Given the description of an element on the screen output the (x, y) to click on. 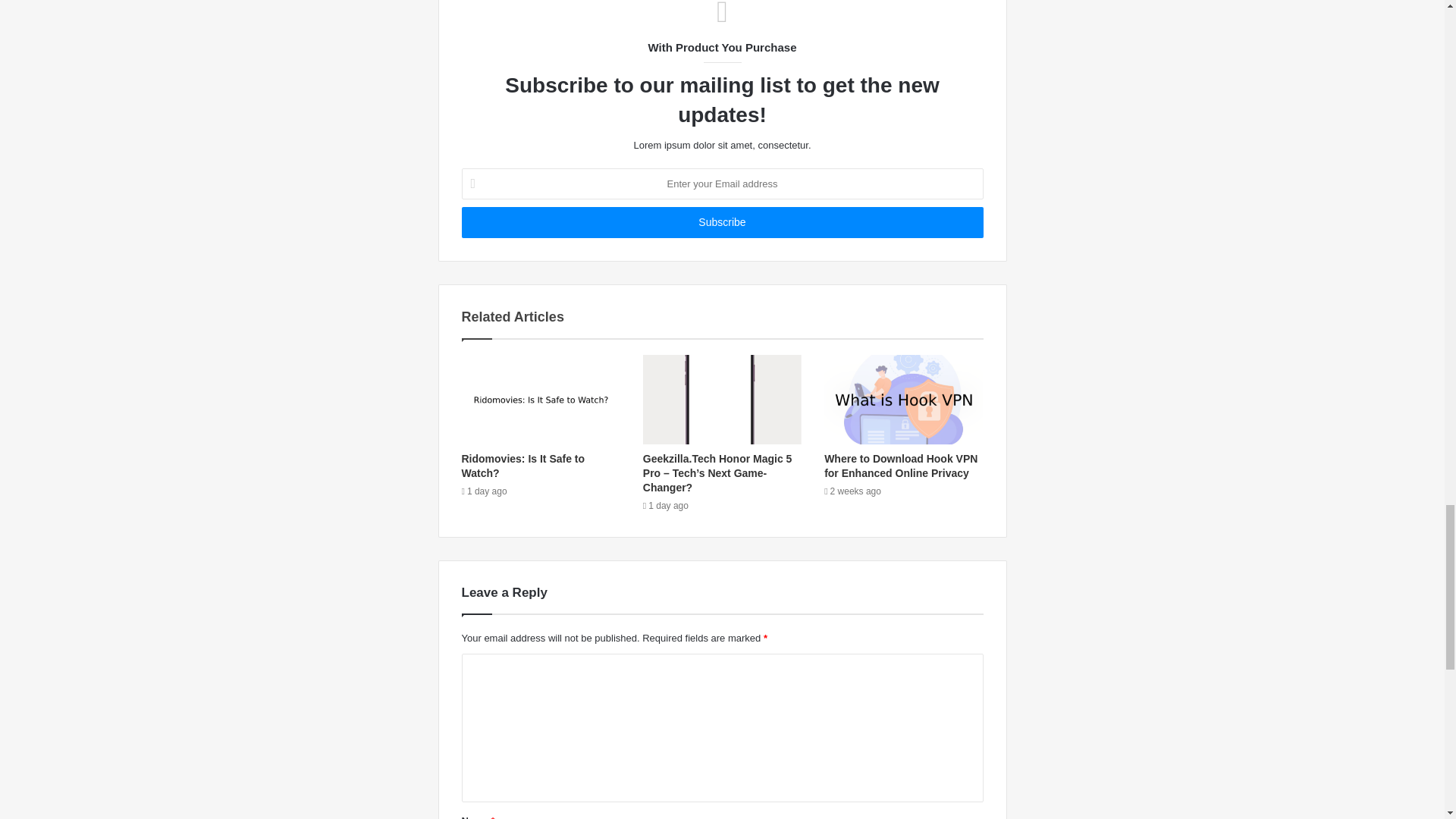
Where to Download Hook VPN for Enhanced Online Privacy (900, 465)
Ridomovies: Is It Safe to Watch? (523, 465)
Subscribe (721, 222)
Subscribe (721, 222)
